Given the description of an element on the screen output the (x, y) to click on. 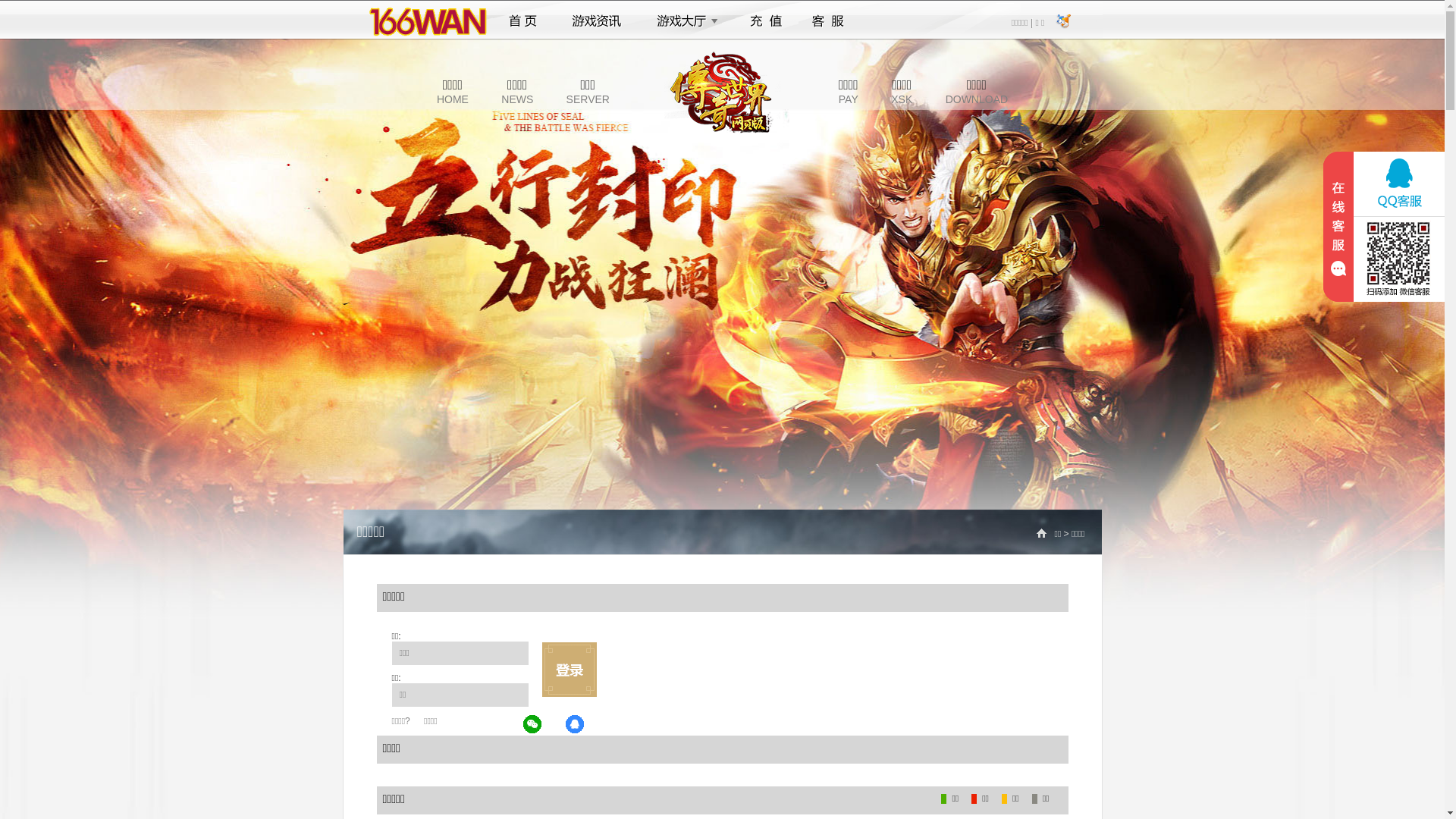
QQ Element type: hover (575, 724)
